Given the description of an element on the screen output the (x, y) to click on. 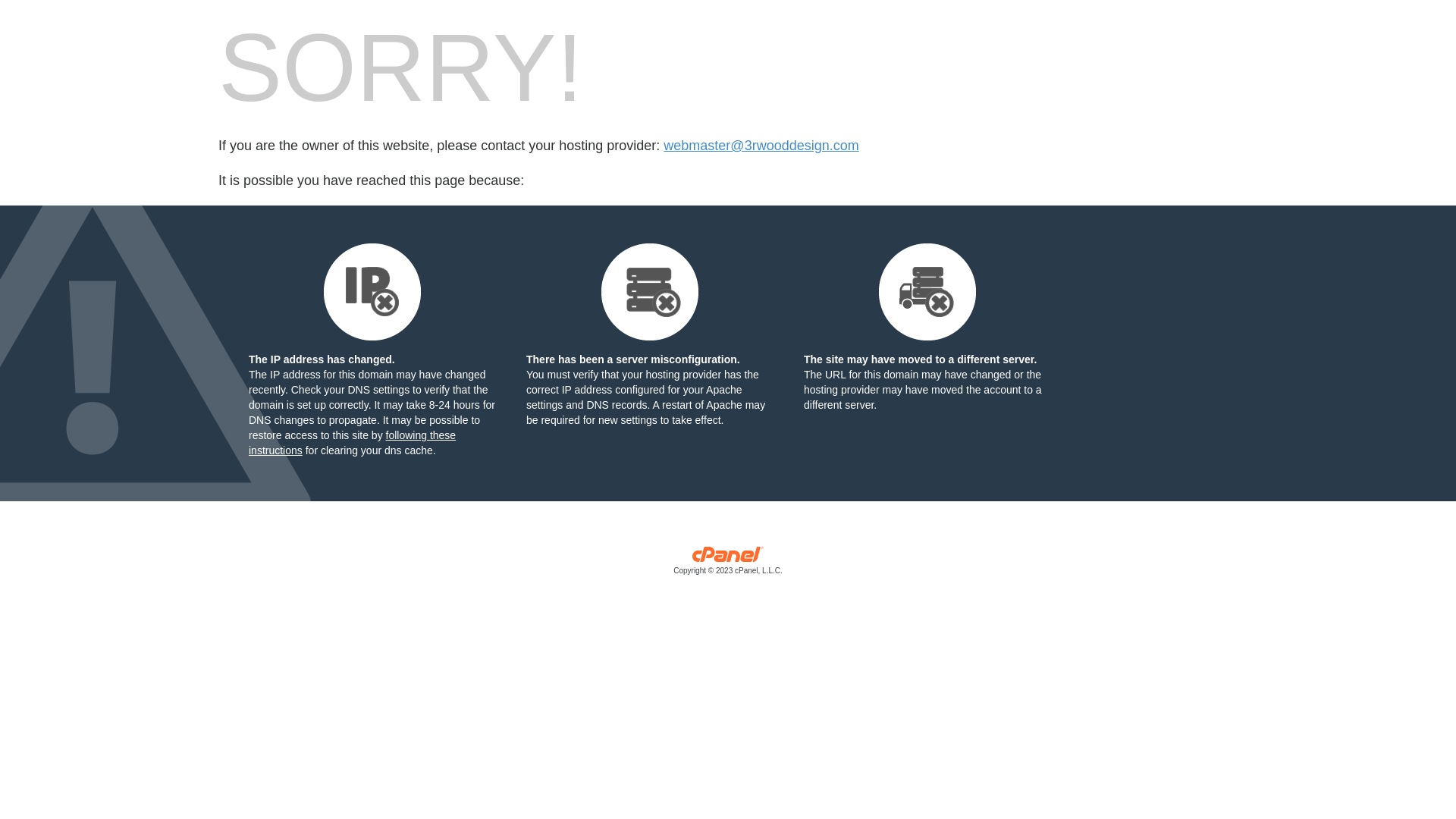
webmaster@3rwooddesign.com Element type: text (760, 145)
following these instructions Element type: text (351, 442)
